Given the description of an element on the screen output the (x, y) to click on. 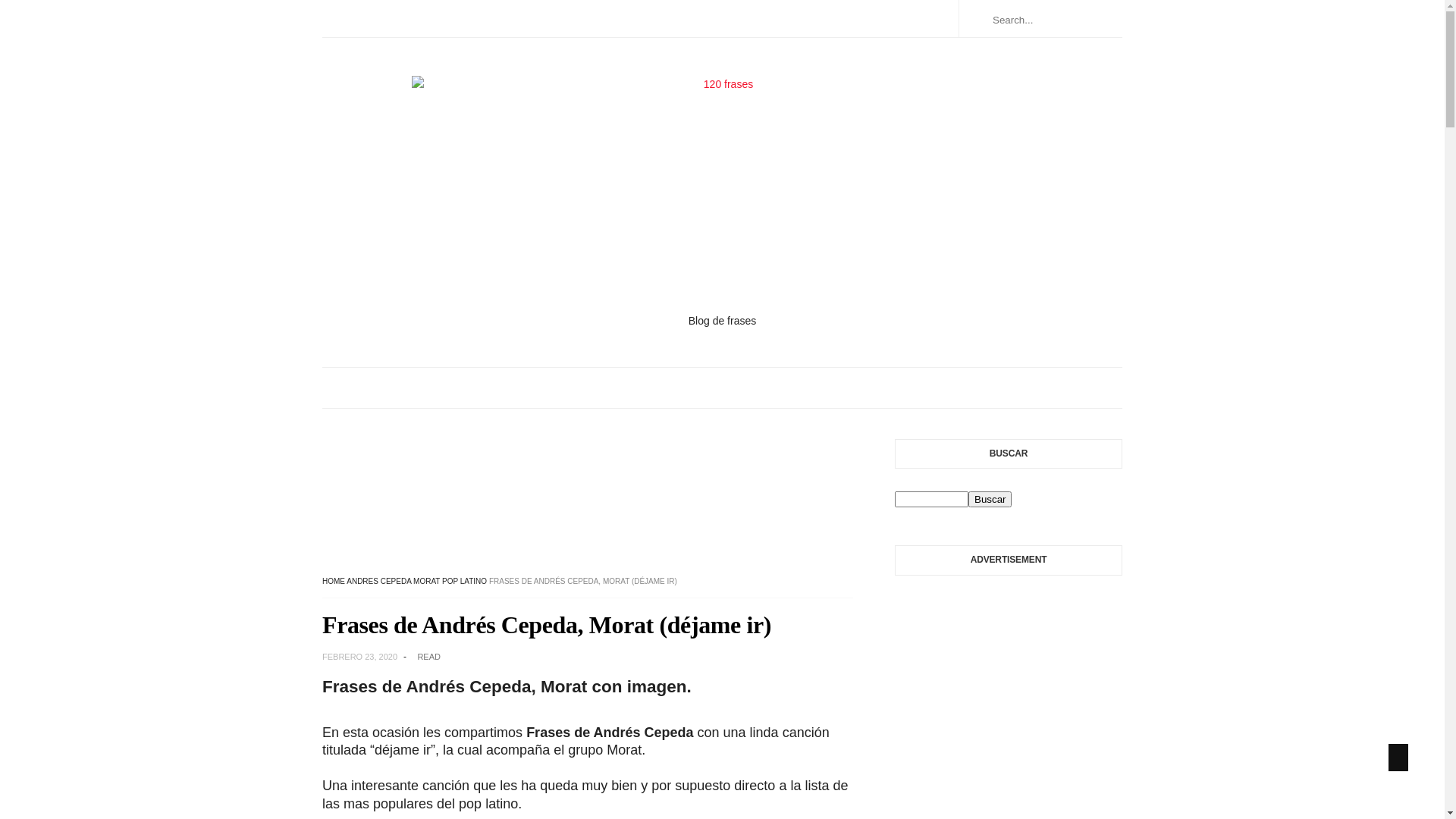
HOME Element type: text (333, 581)
POP LATINO Element type: text (464, 581)
Back to Top Element type: hover (1398, 757)
MORAT Element type: text (426, 581)
Buscar Element type: text (989, 499)
FEBRERO 23, 2020 Element type: text (366, 656)
ANDRES CEPEDA Element type: text (378, 581)
search Element type: hover (989, 499)
search Element type: hover (931, 499)
